Given the description of an element on the screen output the (x, y) to click on. 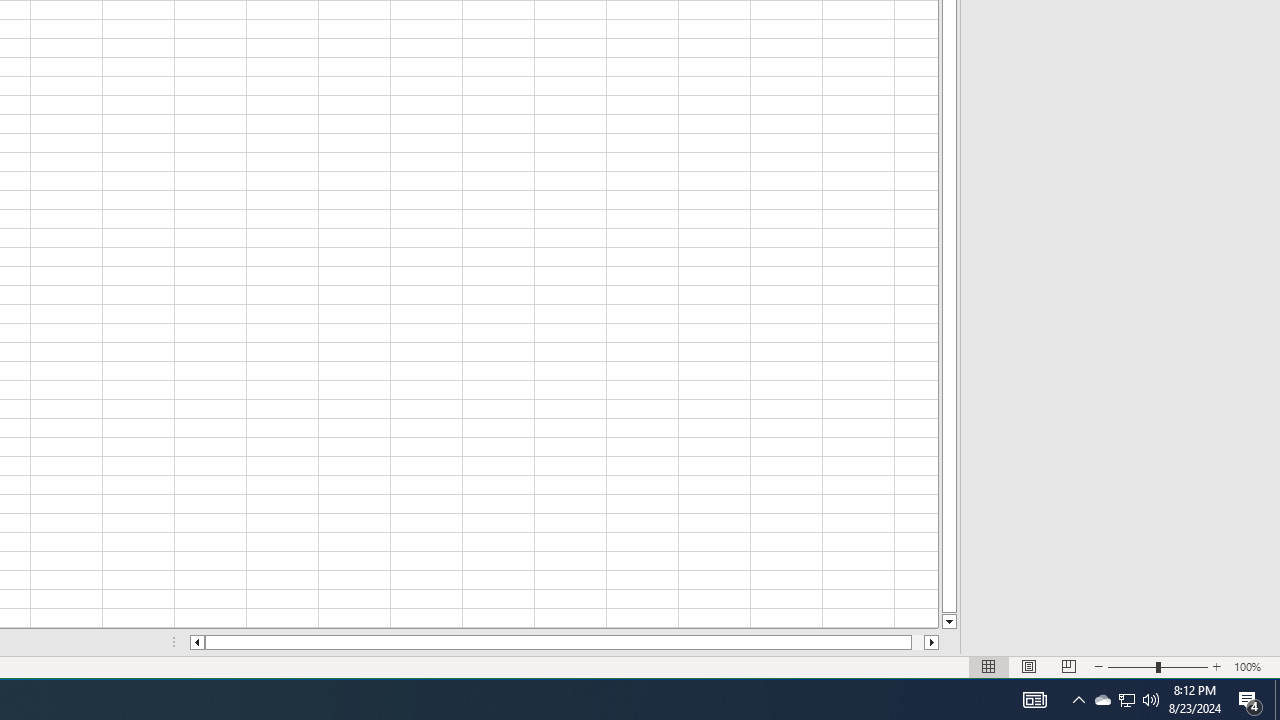
User Promoted Notification Area (1126, 699)
AutomationID: 4105 (1034, 699)
Action Center, 4 new notifications (1126, 699)
Q2790: 100% (1250, 699)
Show desktop (1151, 699)
Notification Chevron (1277, 699)
